Given the description of an element on the screen output the (x, y) to click on. 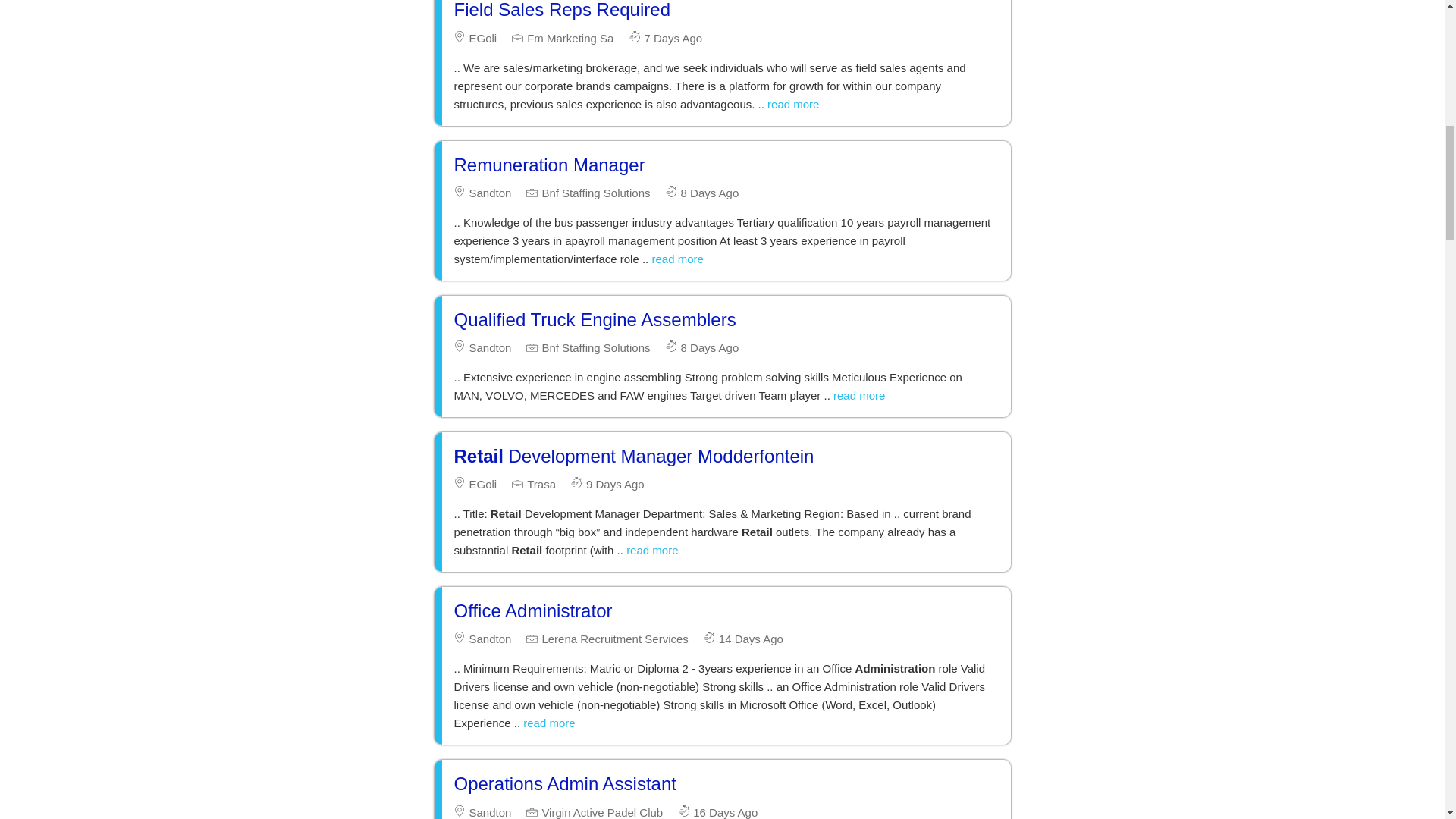
Retail Development Manager Modderfontein (632, 455)
read more (548, 722)
read more (792, 103)
read more (652, 549)
Operations Admin Assistant (563, 783)
Remuneration Manager (548, 164)
Office Administrator (531, 610)
read more (858, 395)
Qualified Truck Engine Assemblers (593, 319)
read more (676, 258)
